Given the description of an element on the screen output the (x, y) to click on. 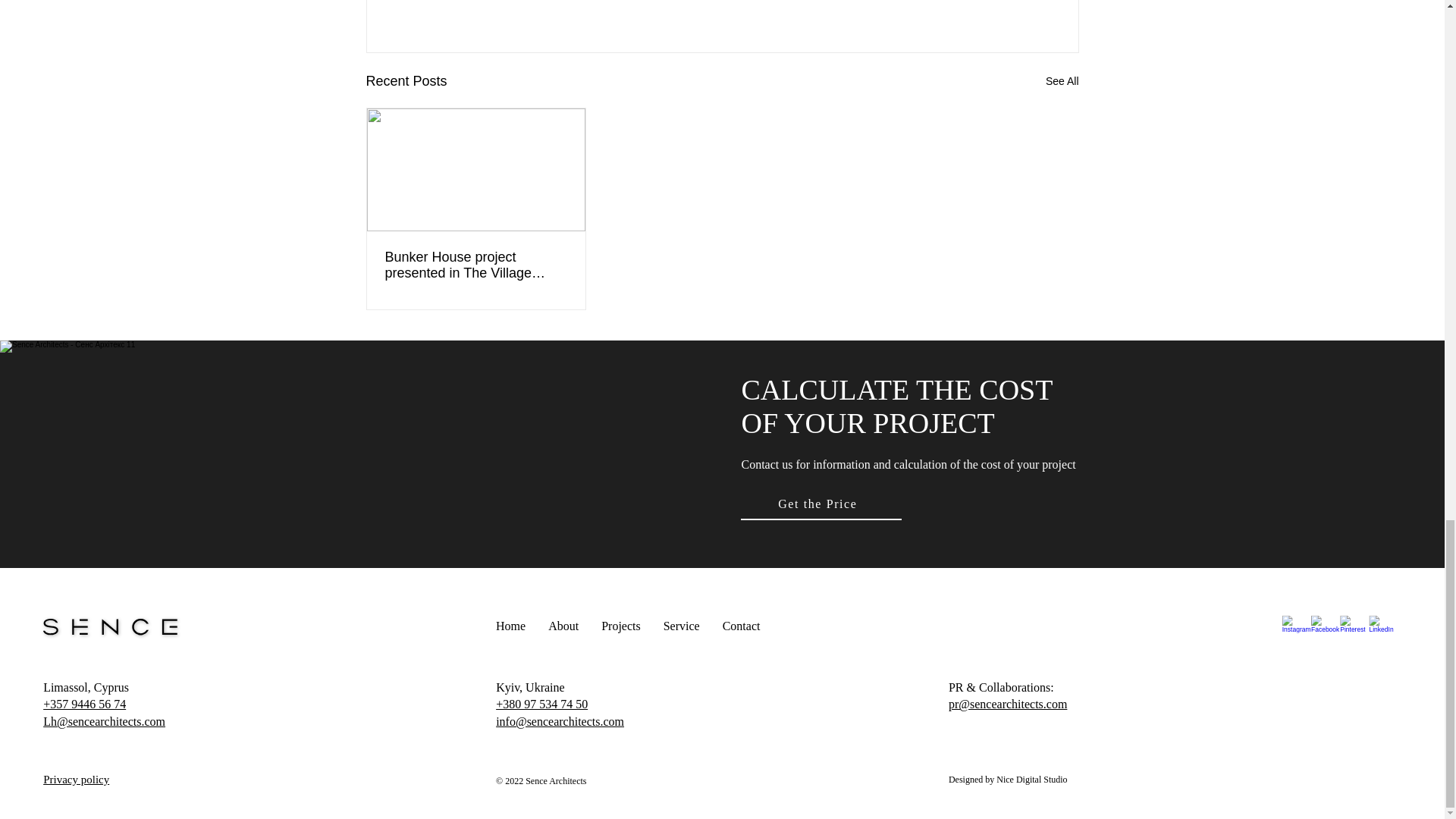
Home (510, 625)
Privacy policy (76, 779)
Get the Price (821, 504)
About (563, 625)
Designed by Nice Digital Studio (1008, 778)
See All (1061, 81)
